Given the description of an element on the screen output the (x, y) to click on. 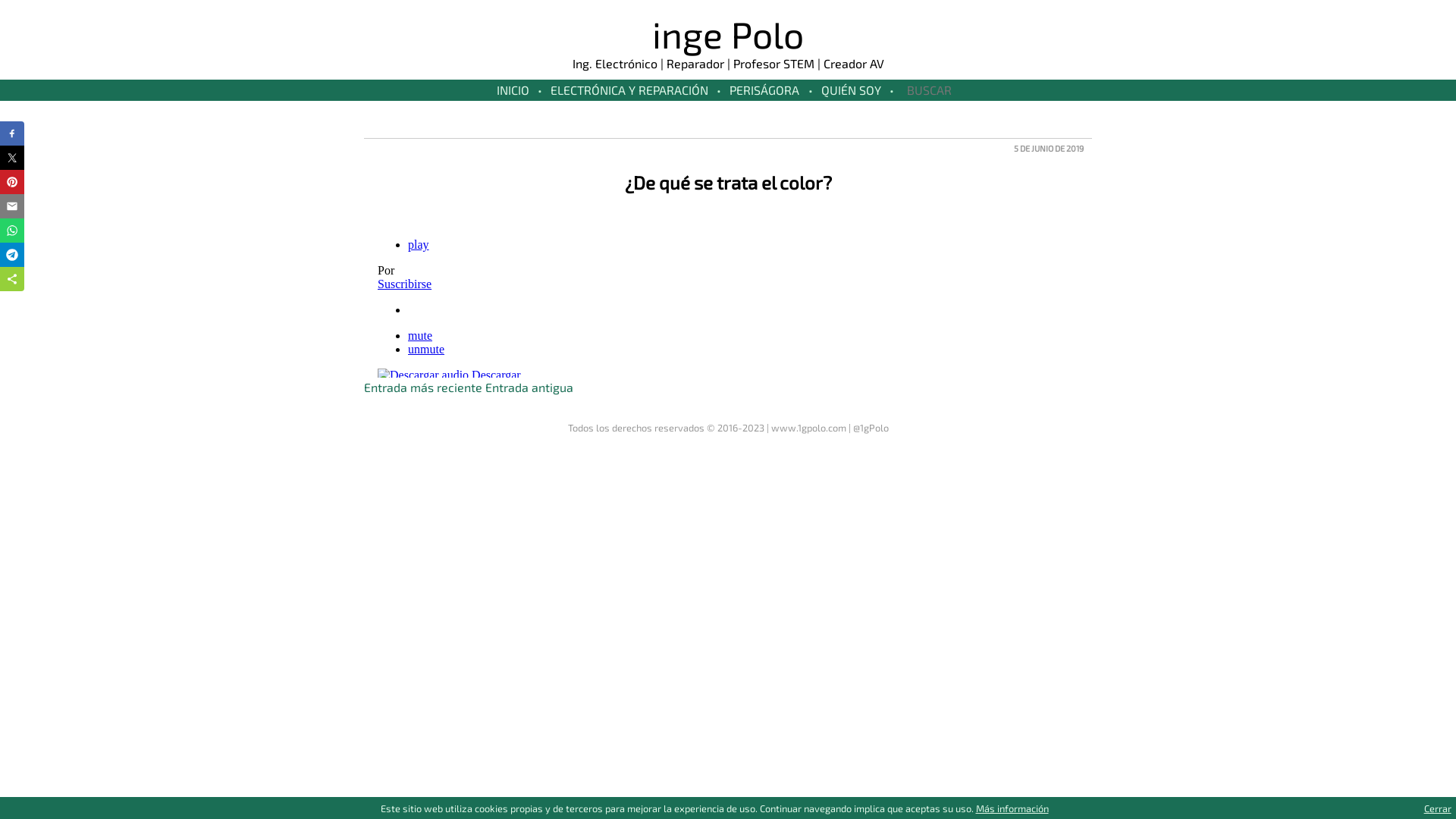
Cerrar Element type: text (1437, 808)
www.1gpolo.com Element type: text (807, 427)
Entrada antigua Element type: text (529, 386)
@1gPolo Element type: text (870, 427)
INICIO Element type: text (512, 89)
